Given the description of an element on the screen output the (x, y) to click on. 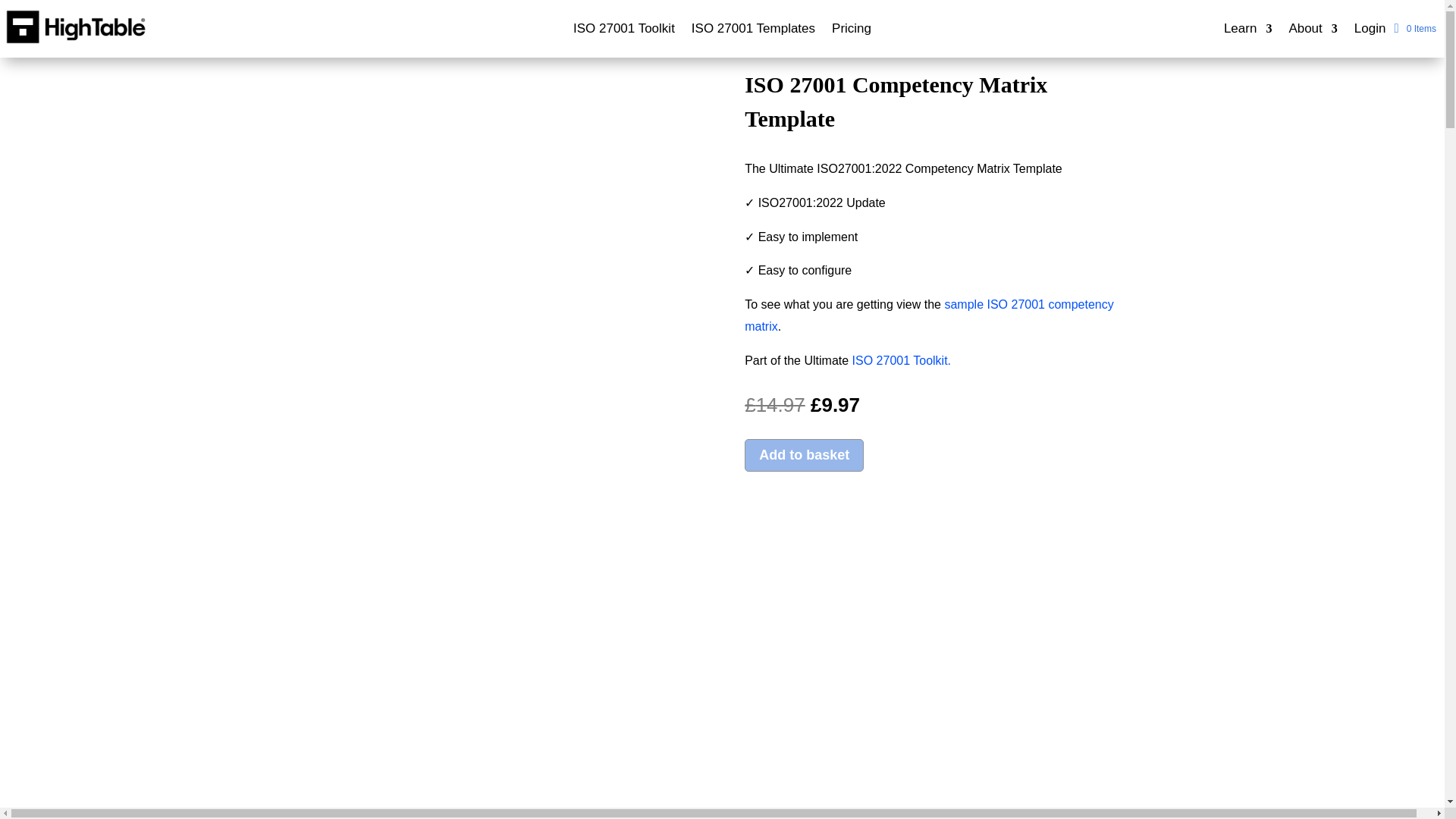
Pricing (850, 31)
ISO 27001 Toolkit. (900, 359)
ISO 27001 Templates (753, 31)
High Table ISO 27001 Logo (75, 26)
Add to basket (803, 454)
Learn (1247, 31)
sample ISO 27001 competency matrix (928, 315)
About (1312, 31)
ISO 27001 Toolkit (624, 31)
